Given the description of an element on the screen output the (x, y) to click on. 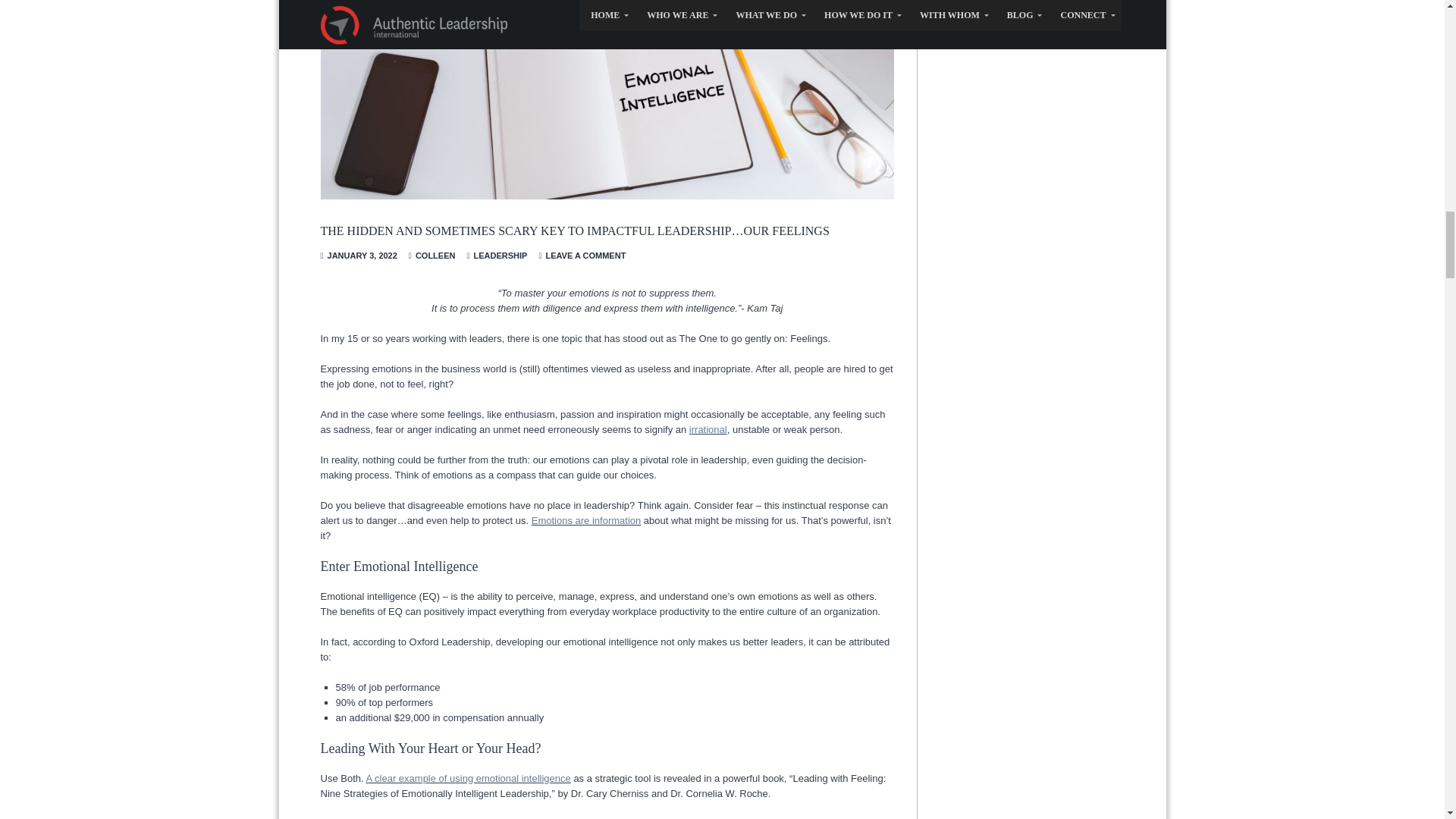
Emotions are information (586, 520)
COLLEEN (434, 255)
irrational (707, 429)
A clear example of using emotional intelligence (467, 778)
LEAVE A COMMENT (585, 255)
LEADERSHIP (500, 255)
Colleen (434, 255)
